Given the description of an element on the screen output the (x, y) to click on. 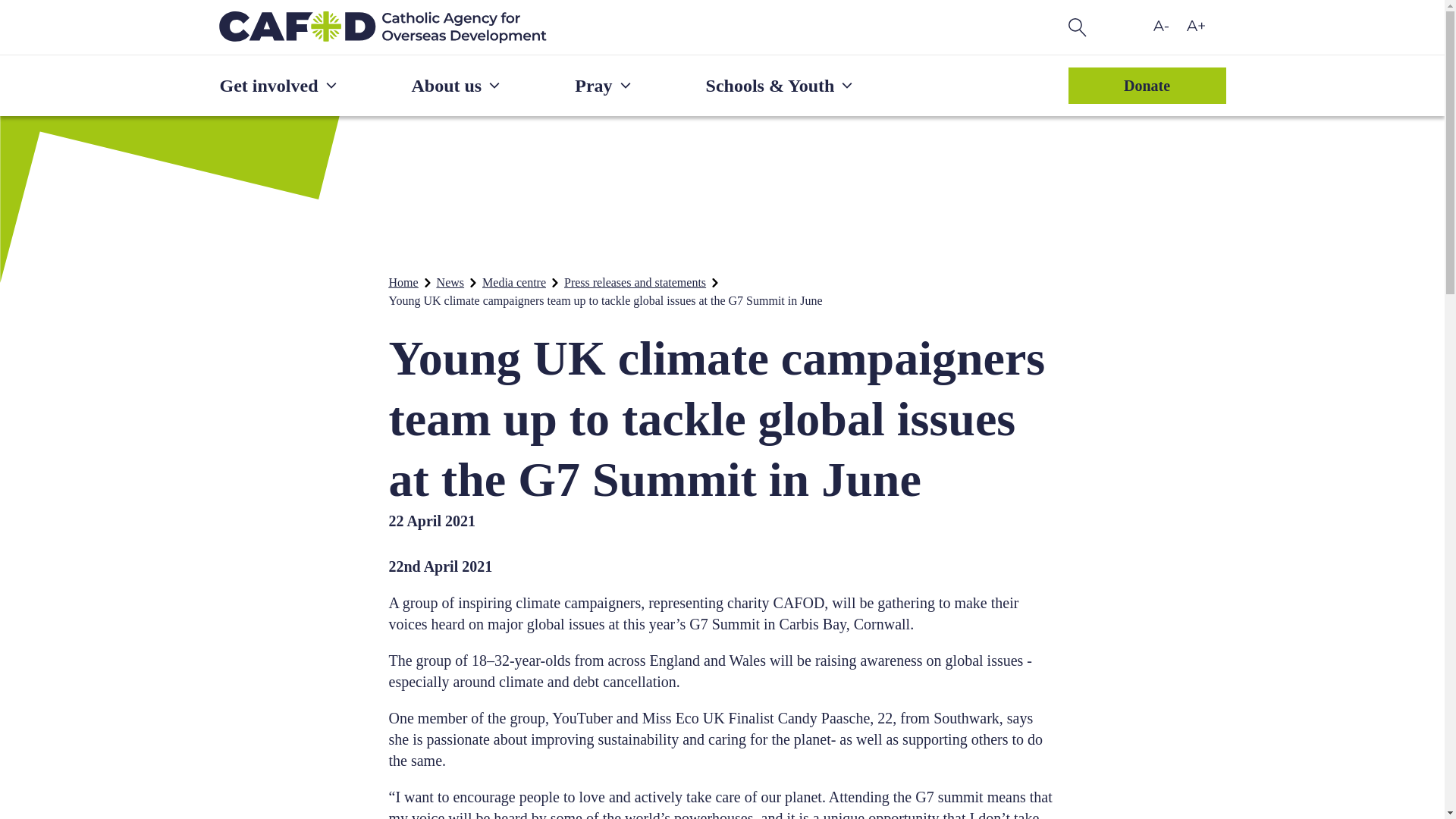
Donate (1146, 85)
News (450, 282)
Search Cafod (1076, 27)
Home (402, 282)
Pray (603, 85)
About us (456, 85)
Media centre (513, 282)
Press releases and statements (635, 282)
Get involved (279, 85)
